Given the description of an element on the screen output the (x, y) to click on. 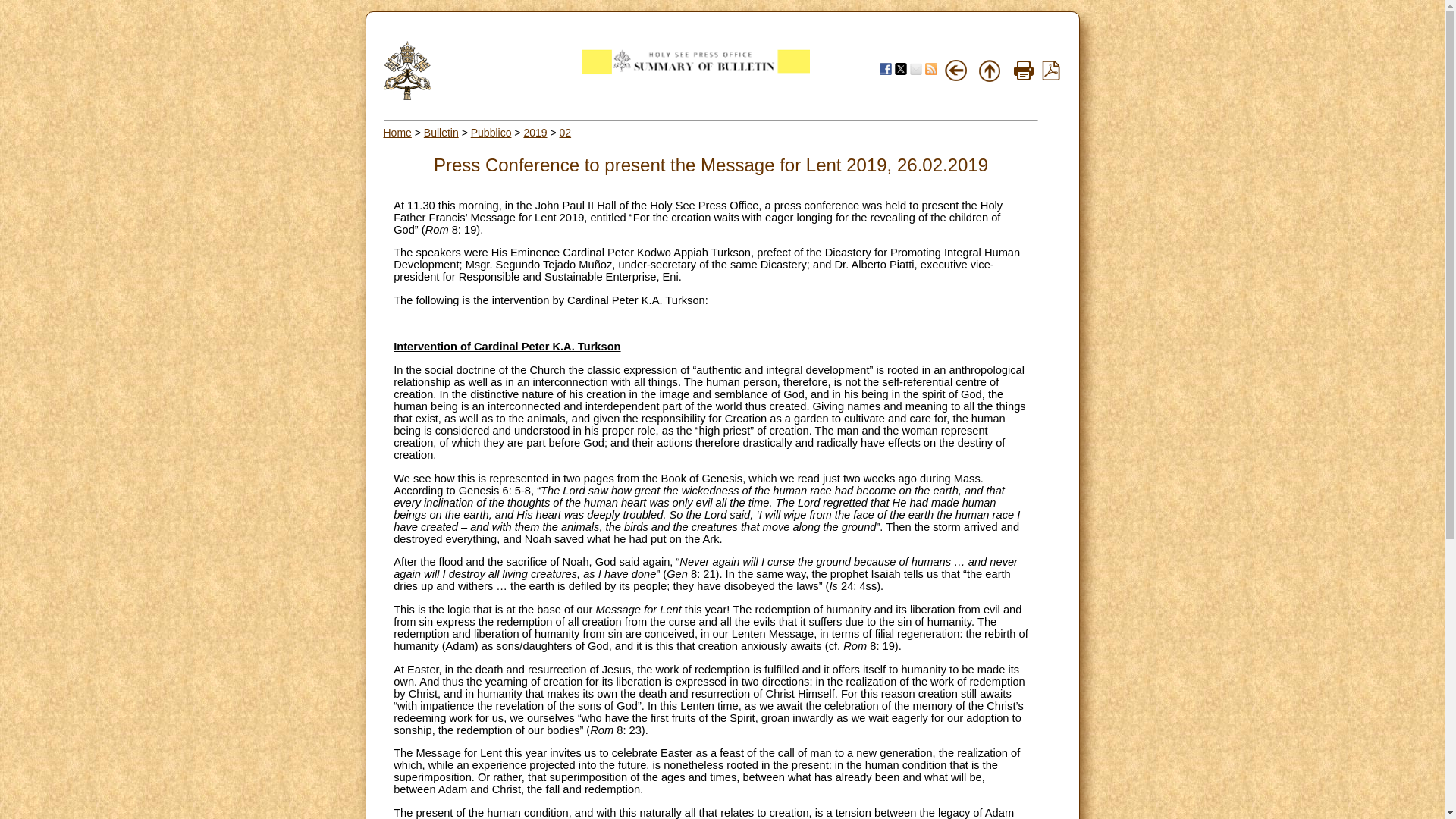
Pdf (1051, 70)
02 (565, 132)
Home (398, 132)
Facebook (885, 69)
Pdf (1051, 76)
Print (1023, 70)
Twitter (901, 69)
Mail (915, 69)
2019 (534, 132)
Pubblico (491, 132)
